Given the description of an element on the screen output the (x, y) to click on. 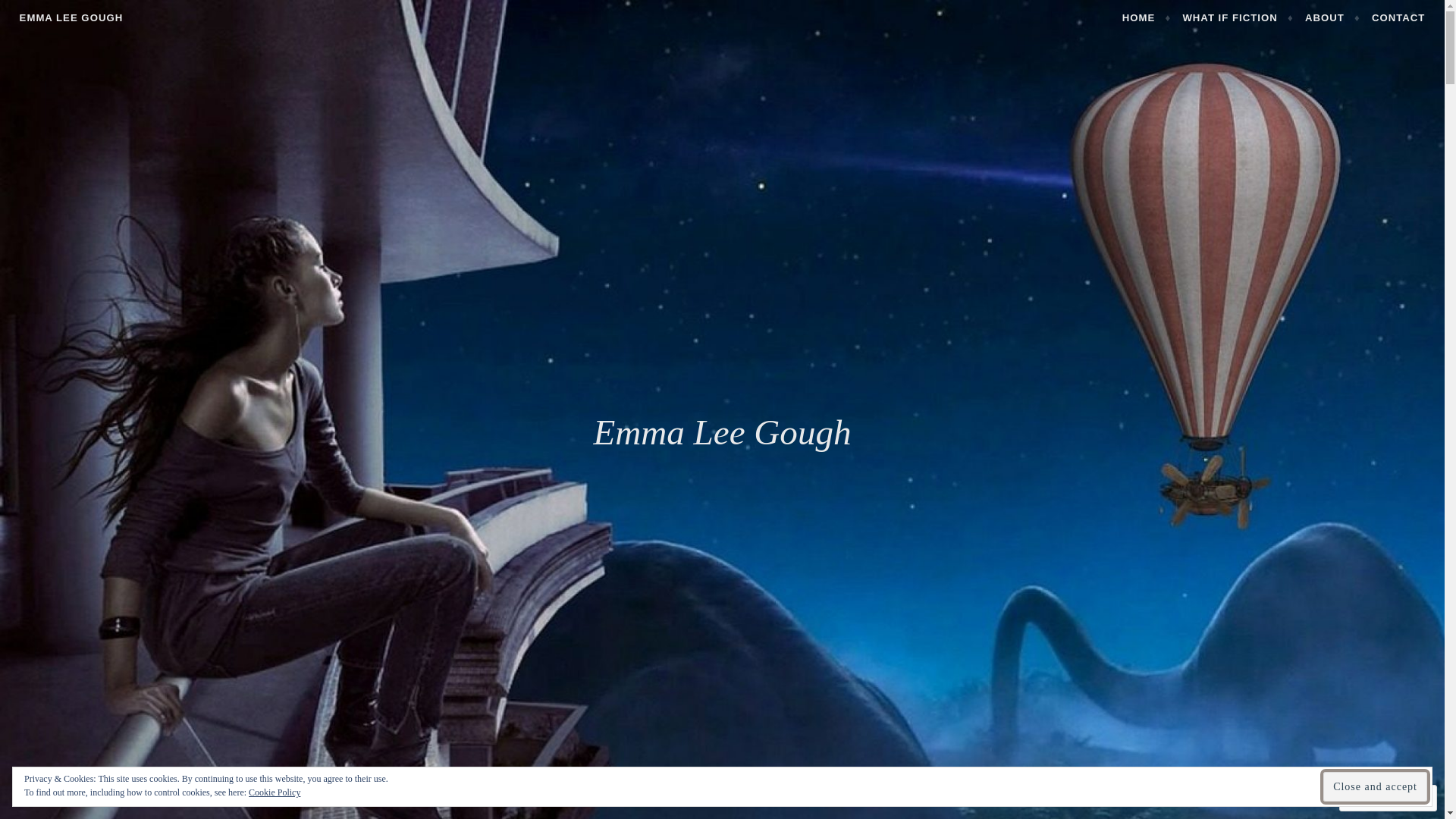
EMMA LEE GOUGH Element type: text (71, 17)
WHAT IF FICTION Element type: text (1237, 17)
Cookie Policy Element type: text (274, 792)
HOME Element type: text (1146, 17)
Emma Lee Gough Element type: text (721, 431)
ABOUT Element type: text (1332, 17)
Close and accept Element type: text (1375, 786)
CONTACT Element type: text (1397, 17)
Follow Element type: text (1373, 797)
